Given the description of an element on the screen output the (x, y) to click on. 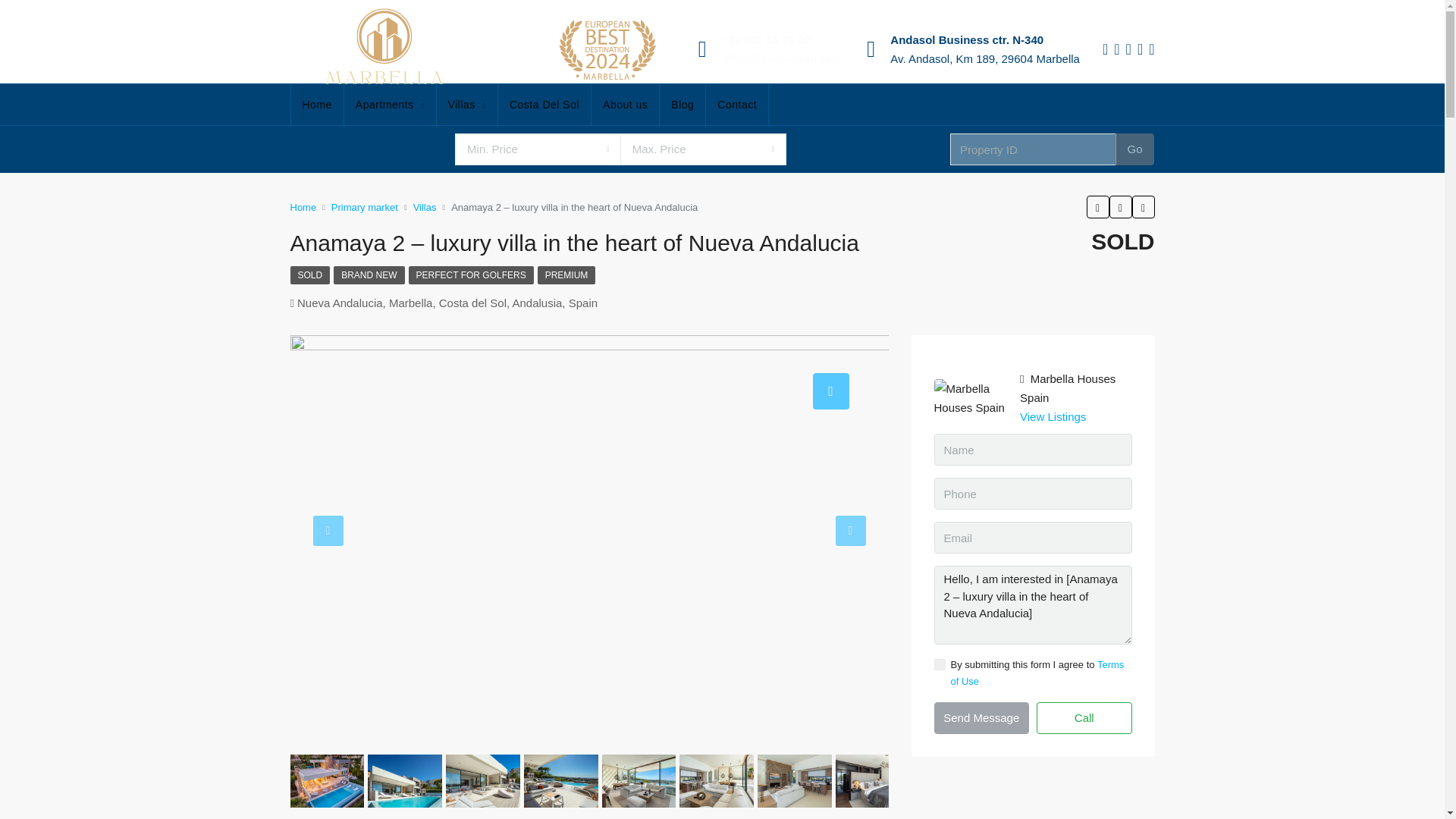
Blog (681, 104)
Home (317, 104)
Min. Price (537, 149)
About us (625, 104)
Max. Price (703, 149)
Apartments (389, 105)
Min. Price (537, 149)
Costa Del Sol (544, 104)
Villas (466, 105)
